Given the description of an element on the screen output the (x, y) to click on. 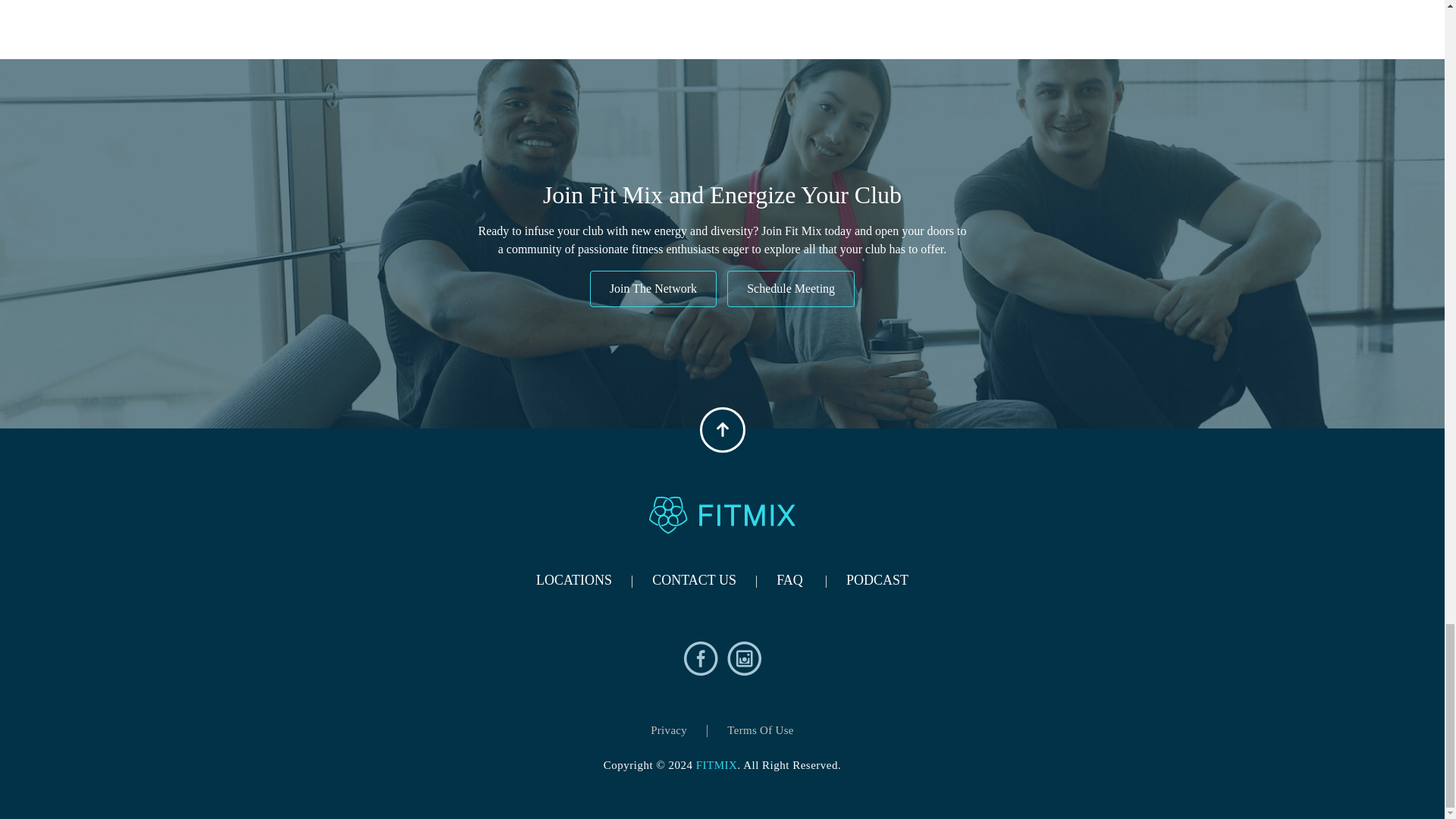
Join The Network (652, 289)
Schedule Meeting (790, 289)
CONTACT US (694, 580)
LOCATIONS (573, 580)
Privacy (668, 729)
FAQ (789, 580)
PODCAST (877, 580)
Terms Of Use (759, 729)
